Given the description of an element on the screen output the (x, y) to click on. 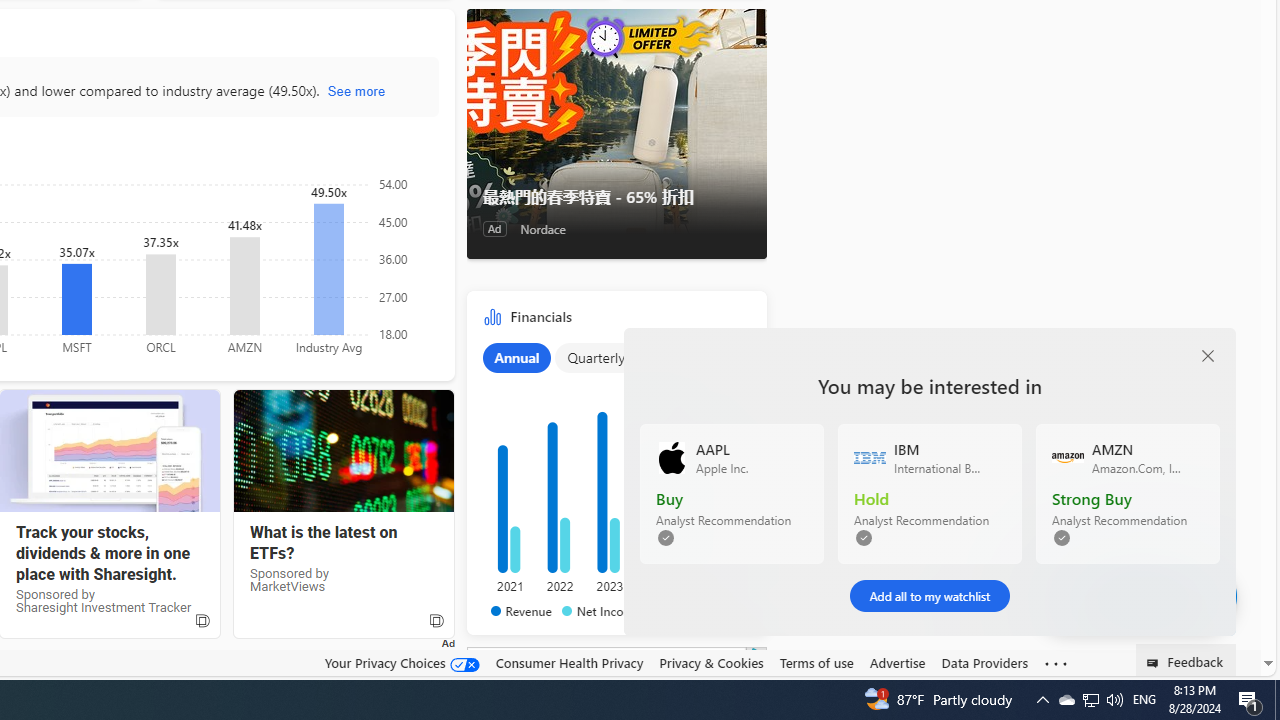
Class: cwt-icon-vector (1174, 596)
Terms of use (816, 662)
Data Providers (983, 662)
Class: feedback_link_icon-DS-EntryPoint1-1 (1156, 663)
Data Providers (983, 663)
Class: qc-adchoices-link top-right  (756, 654)
Consumer Health Privacy (569, 662)
Privacy & Cookies (711, 663)
Class: oneFooter_seeMore-DS-EntryPoint1-1 (1055, 663)
Consumer Health Privacy (569, 663)
Class: chartOuter-DS-EntryPoint1-1 (612, 479)
See comments 317 (1133, 596)
Your Privacy Choices (401, 662)
